Given the description of an element on the screen output the (x, y) to click on. 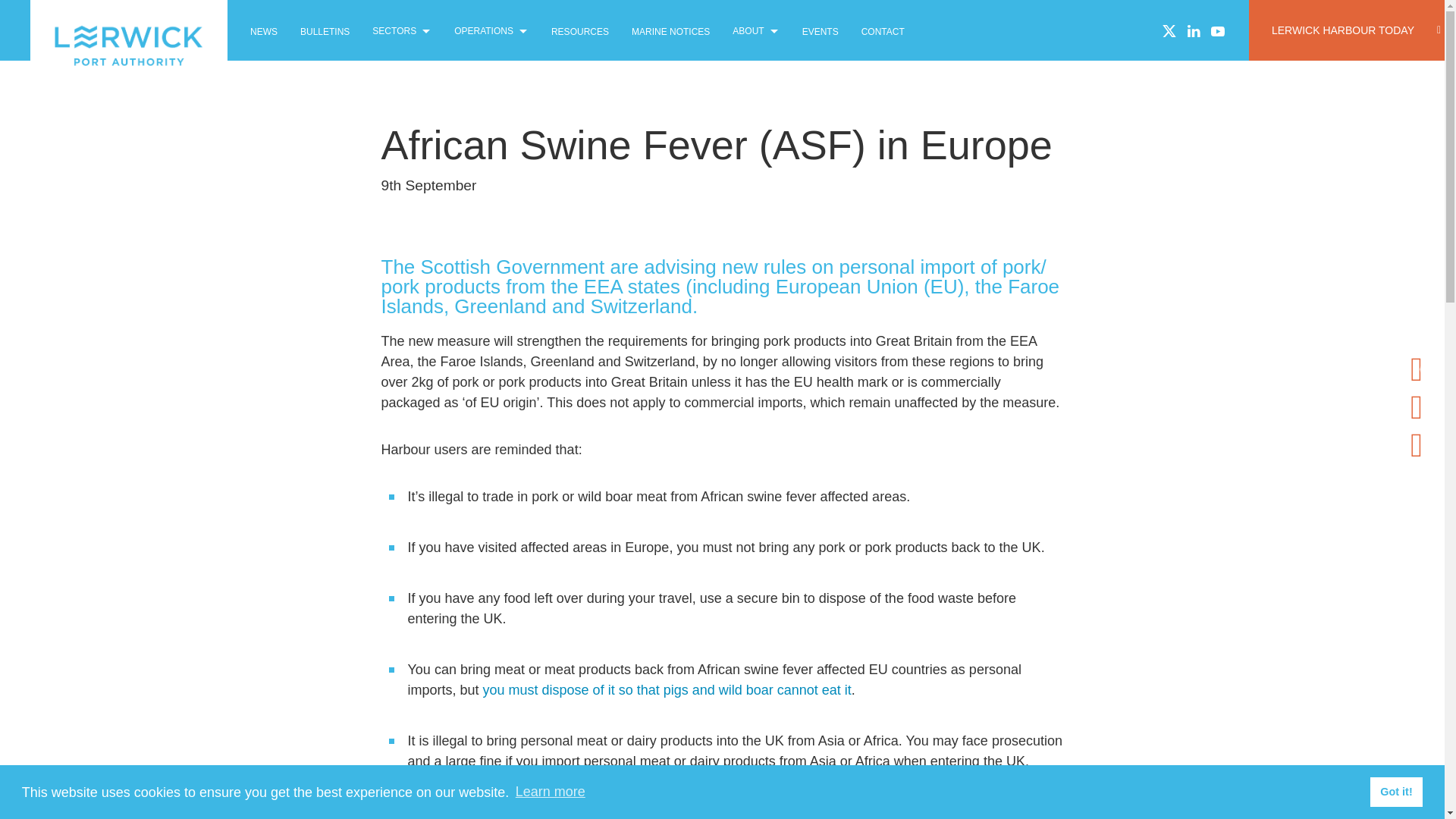
SECTORS (401, 30)
BULLETINS (324, 30)
Learn more (550, 791)
Got it! (1396, 791)
